Given the description of an element on the screen output the (x, y) to click on. 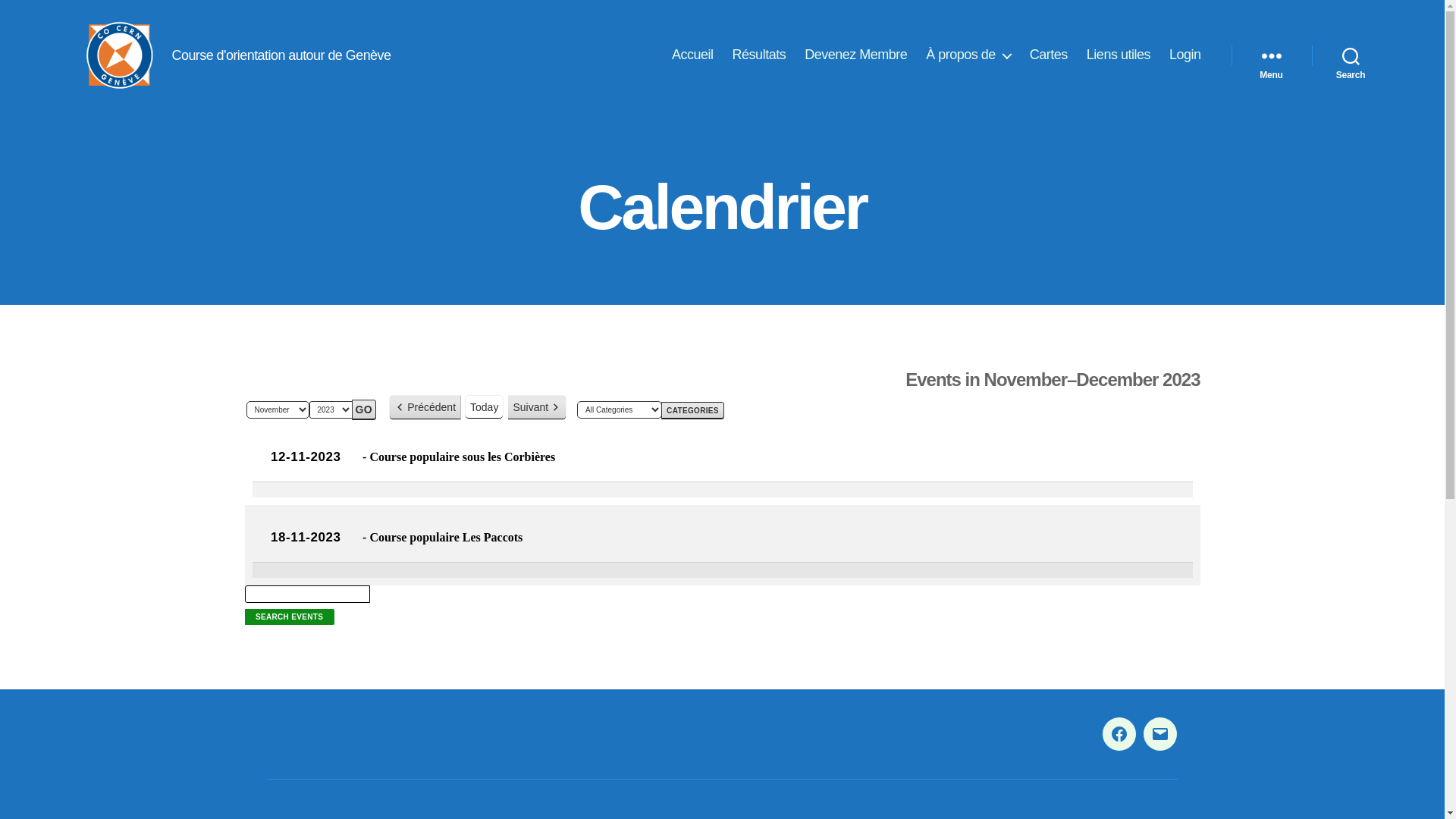
18-11-2023 Element type: text (305, 536)
Menu Element type: text (1271, 55)
[COC web mail] Element type: text (1159, 733)
Photos et Commentaires Element type: text (1118, 733)
Login Element type: text (1185, 55)
Search Events Element type: text (289, 616)
Devenez Membre Element type: text (855, 55)
Liens utiles Element type: text (1118, 55)
Categories Element type: text (692, 410)
12-11-2023 Element type: text (305, 456)
Search Element type: text (1350, 55)
Go Element type: text (363, 409)
Accueil Element type: text (692, 55)
Suivant Element type: text (536, 407)
Cartes Element type: text (1048, 55)
